Given the description of an element on the screen output the (x, y) to click on. 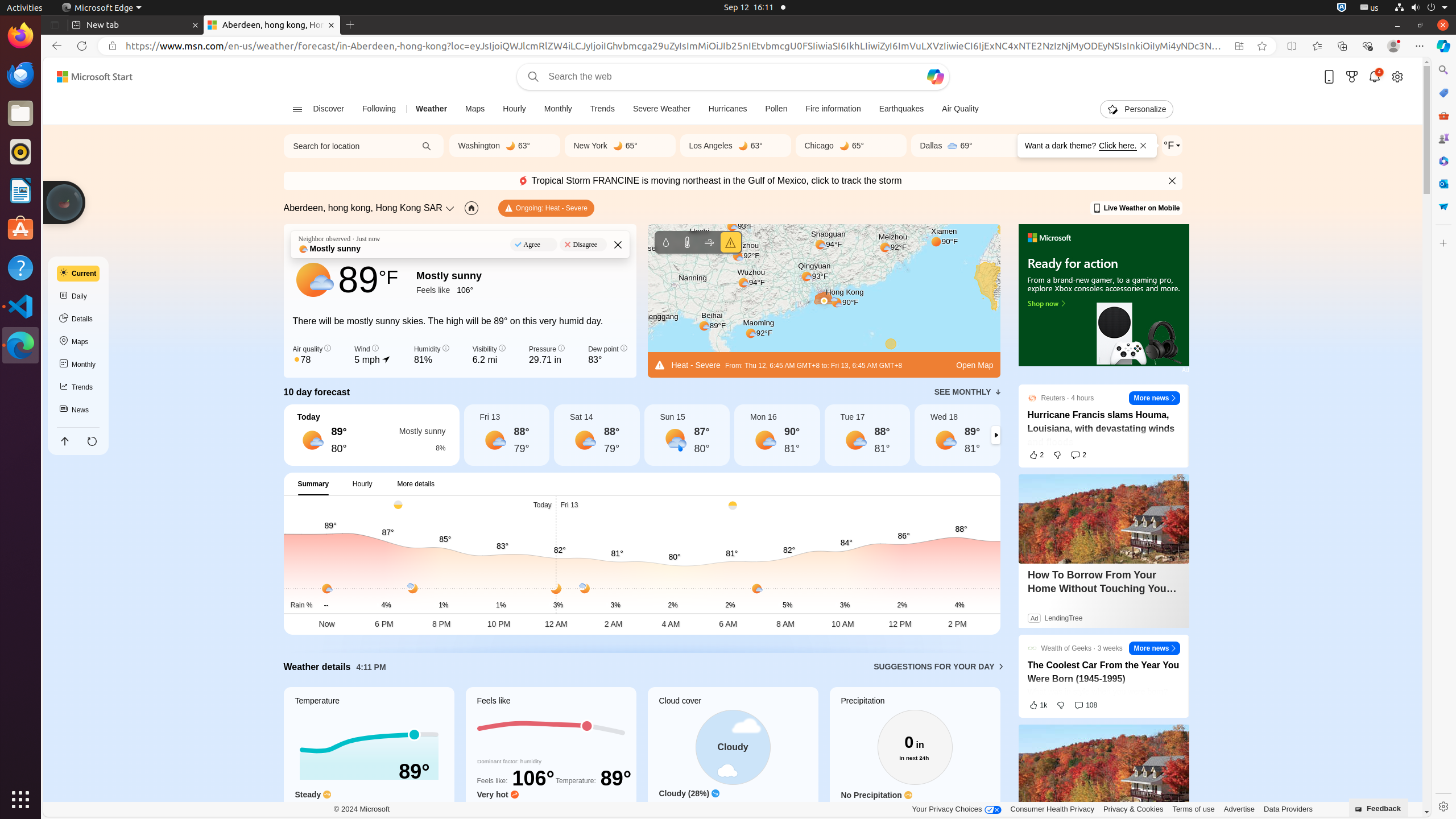
Tools Element type: push-button (1443, 115)
Maps Element type: link (475, 108)
Agree Element type: push-button (533, 244)
Back Element type: push-button (54, 45)
Feels like ‎106° Element type: link (449, 289)
